Given the description of an element on the screen output the (x, y) to click on. 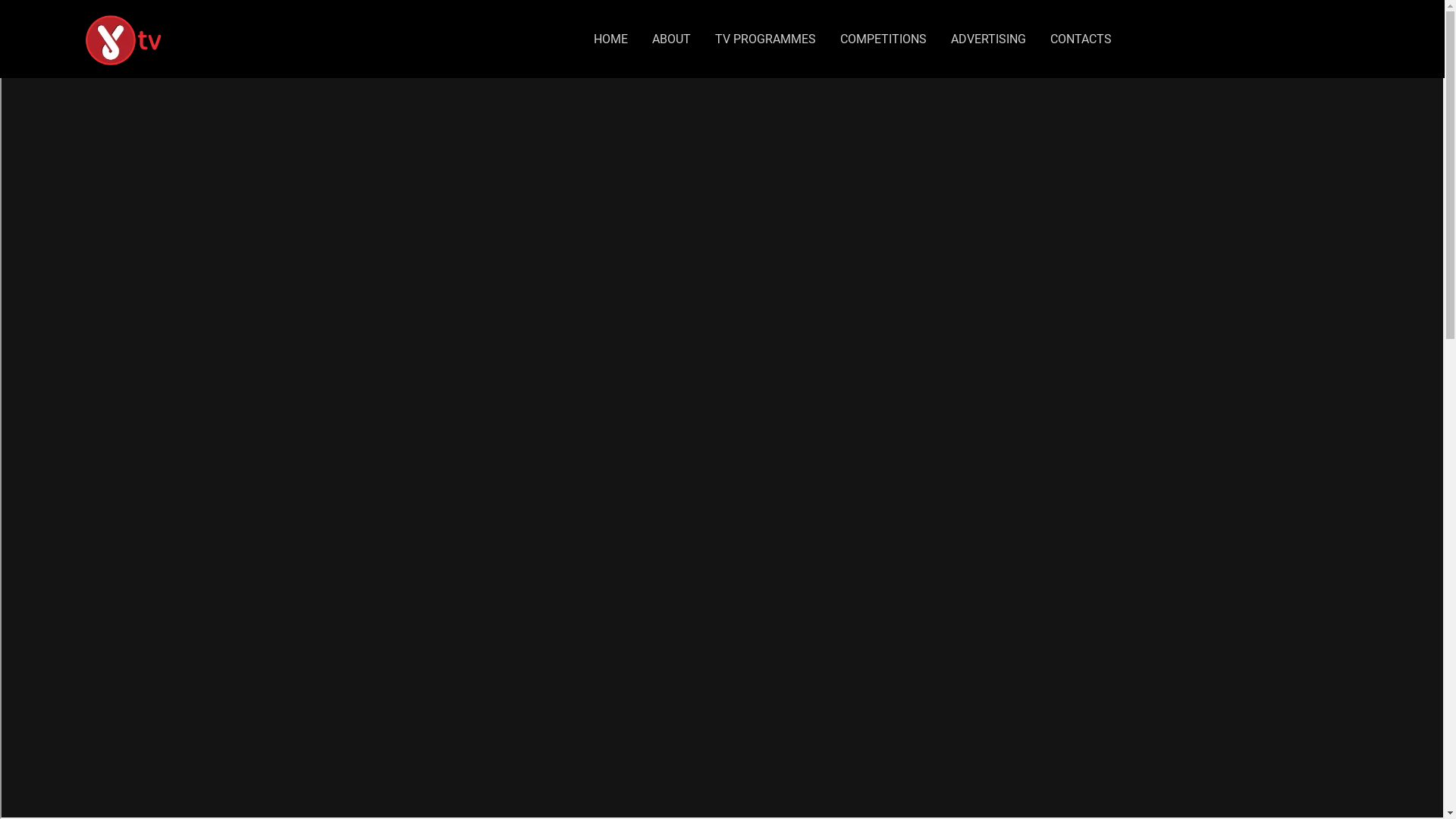
TV PROGRAMMES Element type: text (761, 38)
CONTACTS Element type: text (1076, 38)
ADVERTISING Element type: text (984, 38)
COMPETITIONS Element type: text (879, 38)
HOME Element type: text (606, 38)
ABOUT Element type: text (667, 38)
